Given the description of an element on the screen output the (x, y) to click on. 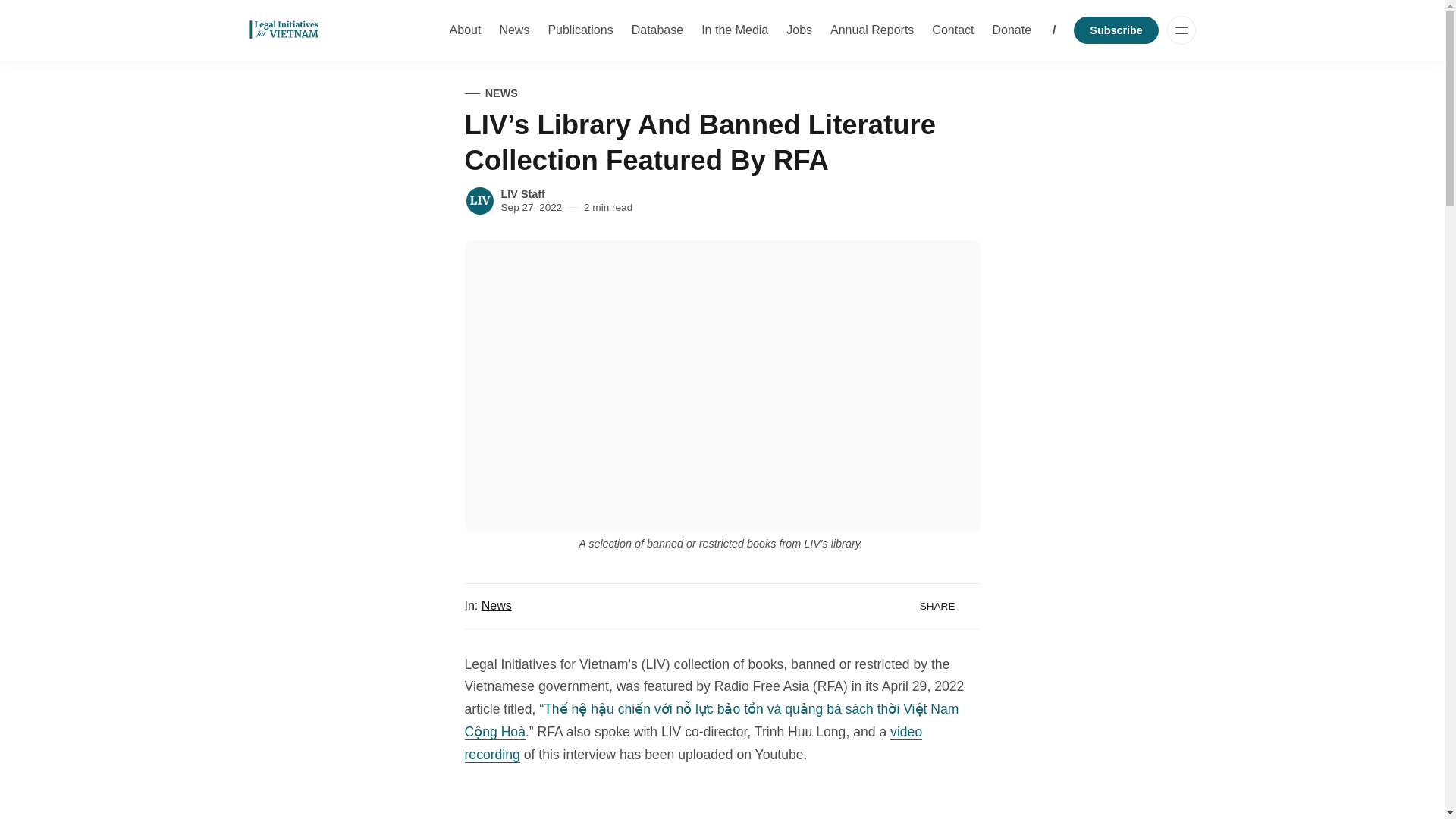
Contact (952, 29)
SHARE (943, 606)
Database (657, 29)
Menu (1181, 30)
NEWS (490, 93)
LIV Staff (522, 193)
LIV Staff (479, 200)
video recording (692, 742)
News (514, 29)
Donate (1010, 29)
Publications (579, 29)
Jobs (799, 29)
Annual Reports (872, 29)
Subscribe (1116, 30)
About (465, 29)
